Given the description of an element on the screen output the (x, y) to click on. 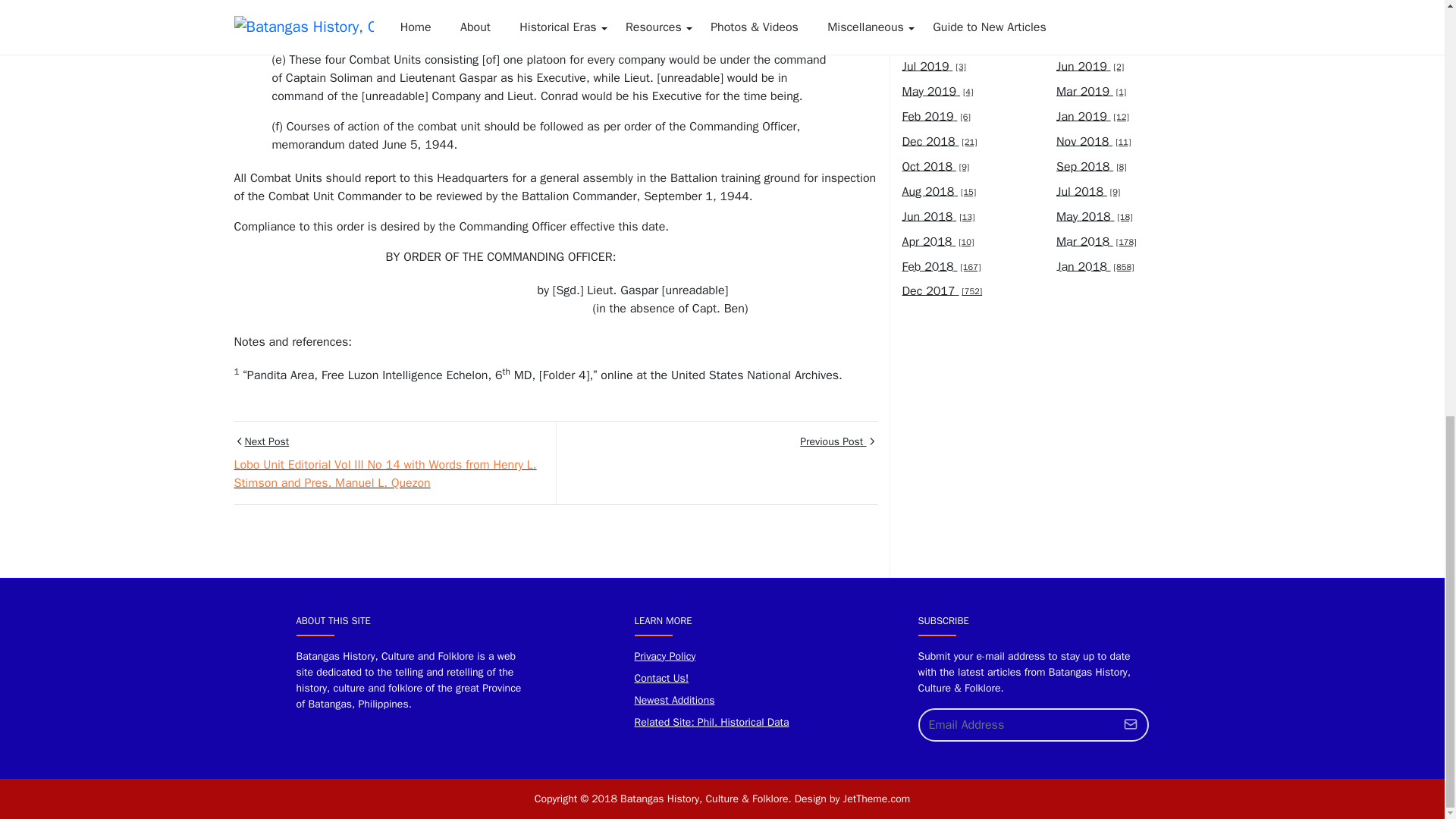
Previous Post (715, 462)
